Given the description of an element on the screen output the (x, y) to click on. 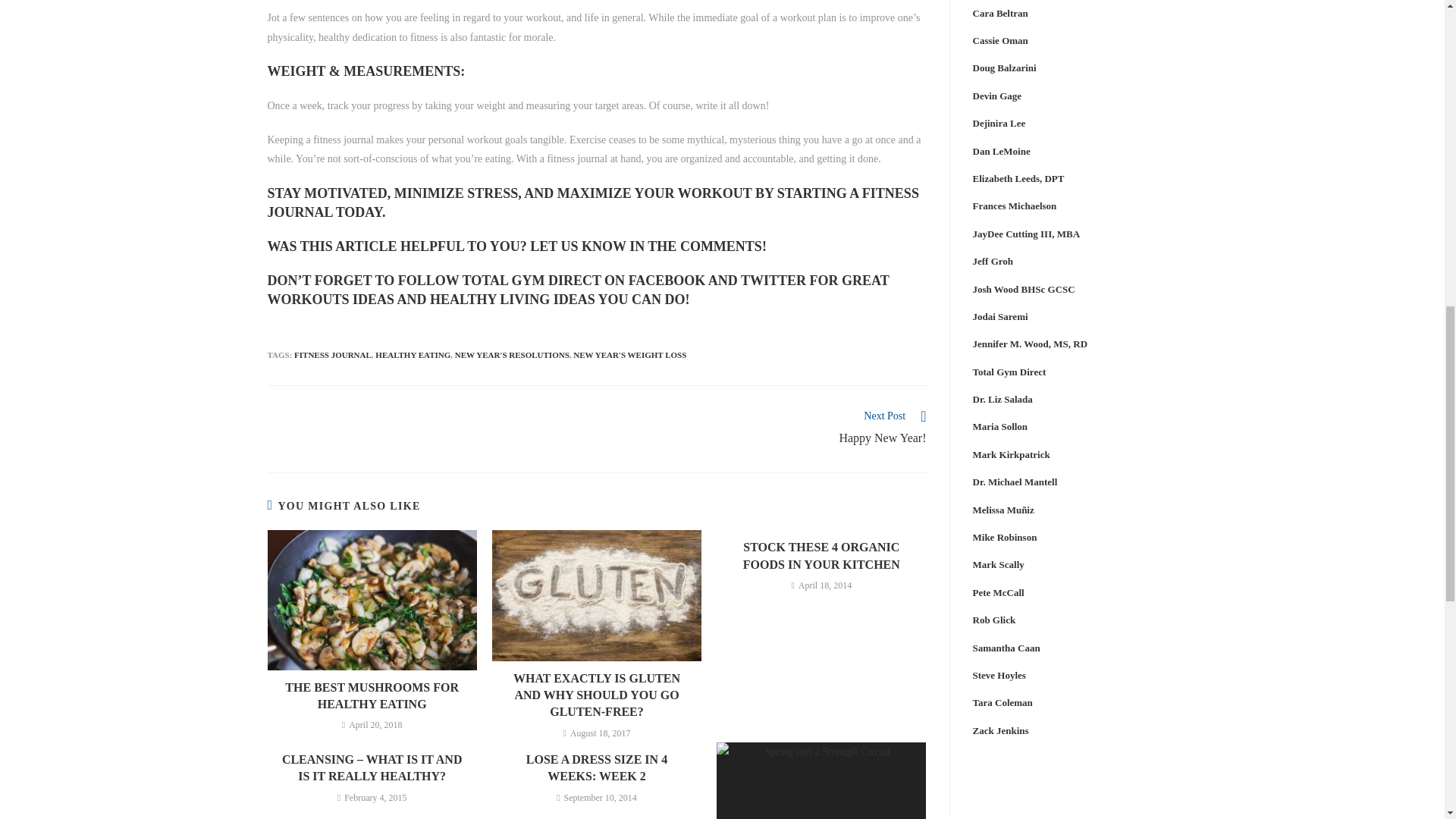
NEW YEAR'S RESOLUTIONS (511, 354)
What Exactly Is Gluten and Why Should You Go Gluten-Free? (596, 695)
TWITTER (773, 280)
WHAT EXACTLY IS GLUTEN AND WHY SHOULD YOU GO GLUTEN-FREE? (596, 695)
FACEBOOK (667, 280)
Lose a Dress Size in 4 Weeks: Week 2 (596, 768)
Stock These 4 Organic Foods in Your Kitchen (821, 555)
The Best Mushrooms for Healthy Eating (371, 696)
LOSE A DRESS SIZE IN 4 WEEKS: WEEK 2 (768, 428)
